Given the description of an element on the screen output the (x, y) to click on. 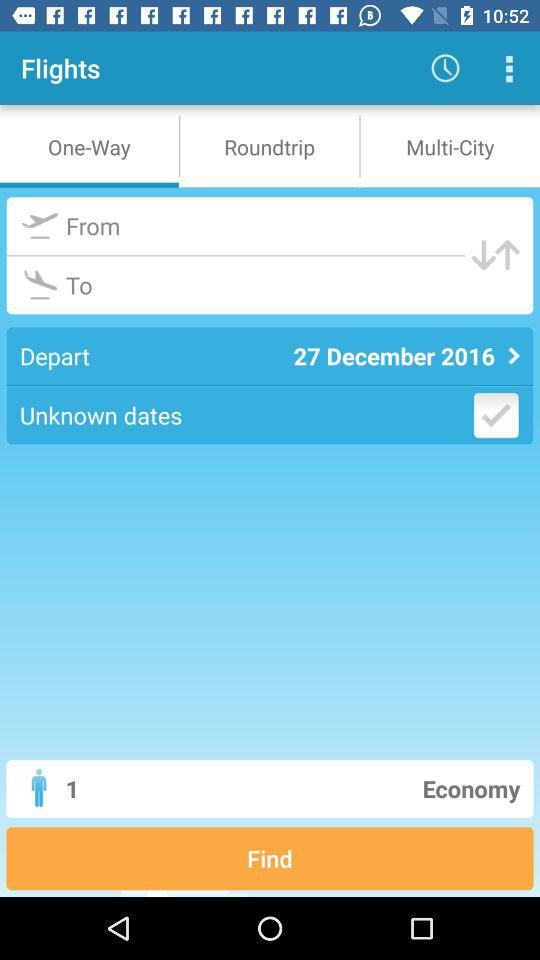
turn on item next to the 1 (346, 788)
